Given the description of an element on the screen output the (x, y) to click on. 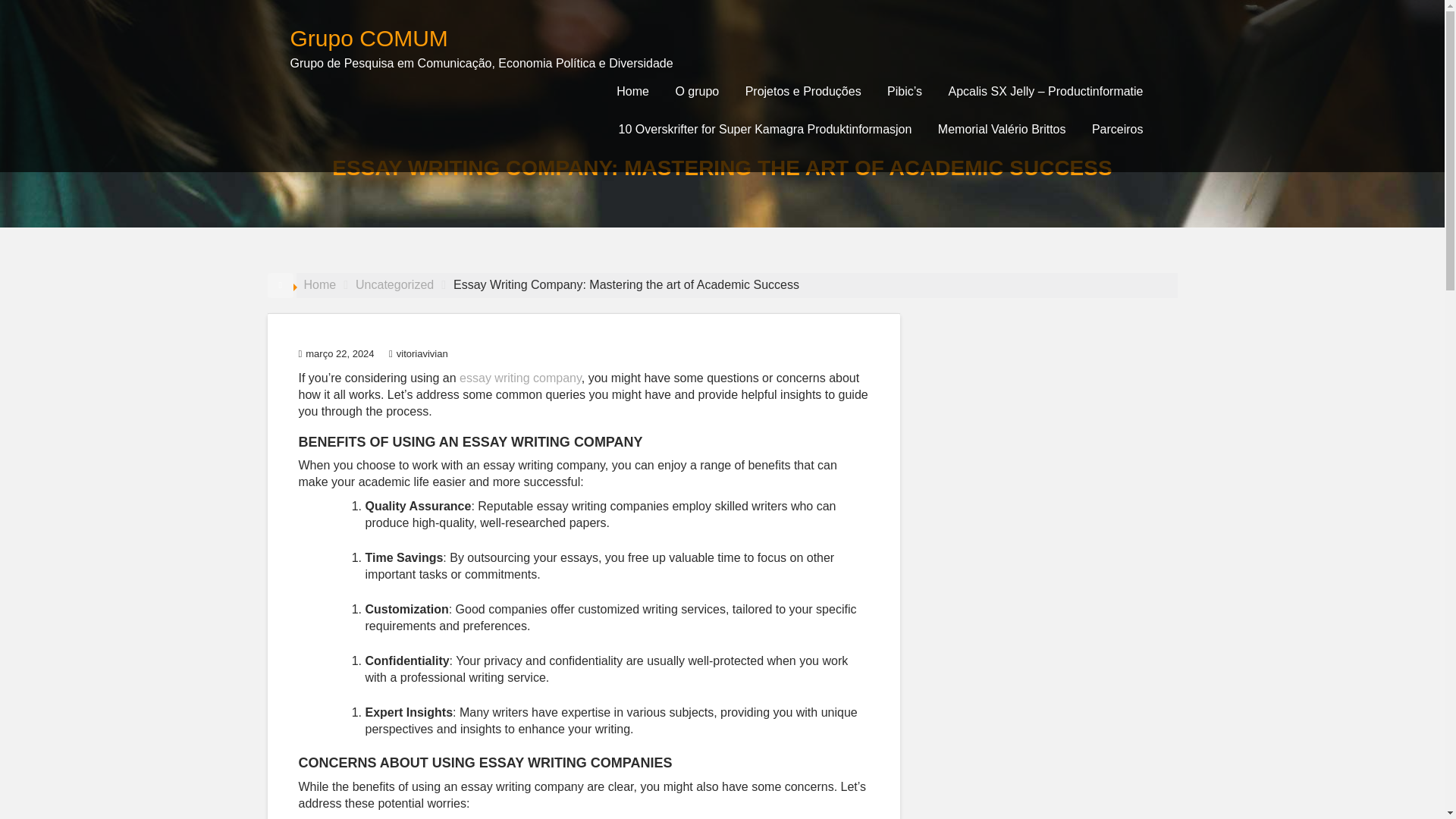
10 Overskrifter for Super Kamagra Produktinformasjon (765, 129)
Parceiros (1117, 129)
Home (633, 91)
vitoriavivian (418, 353)
O grupo (696, 91)
essay writing company (520, 377)
Grupo COMUM (367, 37)
Home (319, 284)
Uncategorized (394, 284)
Grupo COMUM (367, 37)
